Given the description of an element on the screen output the (x, y) to click on. 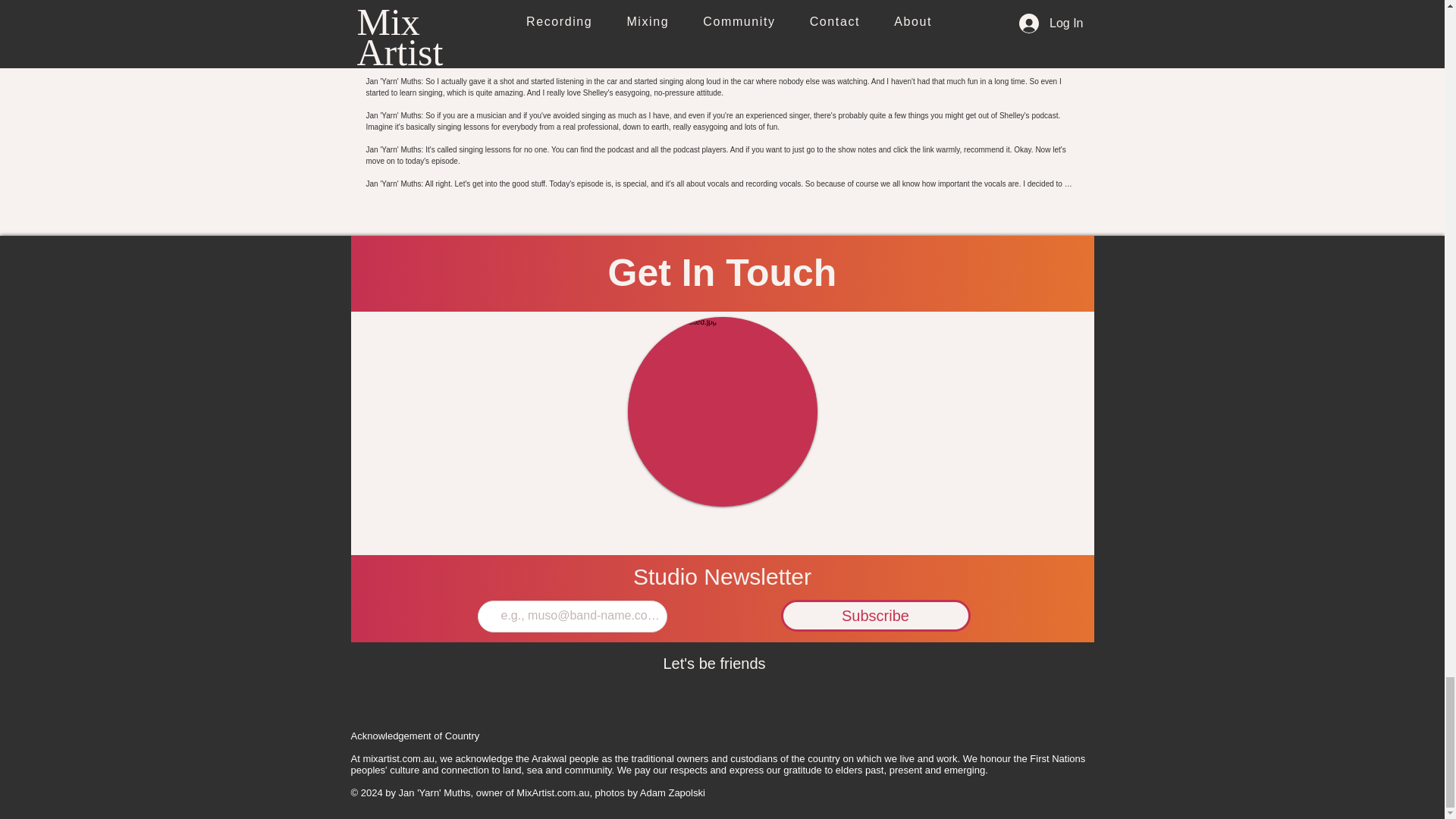
Studio Newsletter (721, 576)
Subscribe (875, 615)
